Given the description of an element on the screen output the (x, y) to click on. 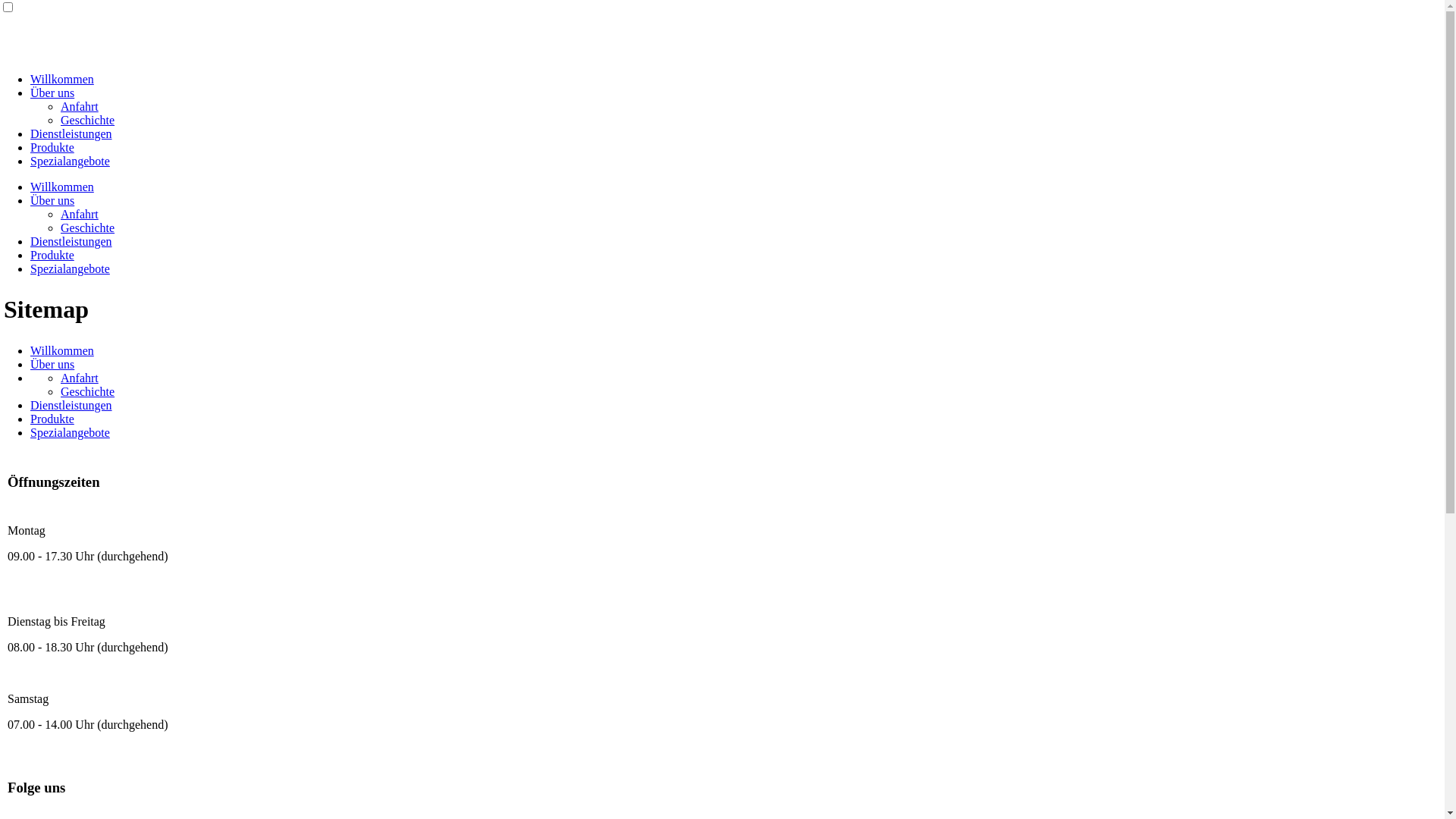
Produkte Element type: text (52, 254)
Spezialangebote Element type: text (69, 432)
Geschichte Element type: text (87, 119)
Produkte Element type: text (52, 147)
Dienstleistungen Element type: text (71, 404)
Dienstleistungen Element type: text (71, 133)
Anfahrt Element type: text (79, 377)
Anfahrt Element type: text (79, 213)
Produkte Element type: text (52, 418)
Spezialangebote Element type: text (69, 160)
Dienstleistungen Element type: text (71, 241)
Willkommen Element type: text (62, 186)
Geschichte Element type: text (87, 227)
Willkommen Element type: text (62, 78)
Anfahrt Element type: text (79, 106)
Geschichte Element type: text (87, 391)
Willkommen Element type: text (62, 350)
Spezialangebote Element type: text (69, 268)
